Given the description of an element on the screen output the (x, y) to click on. 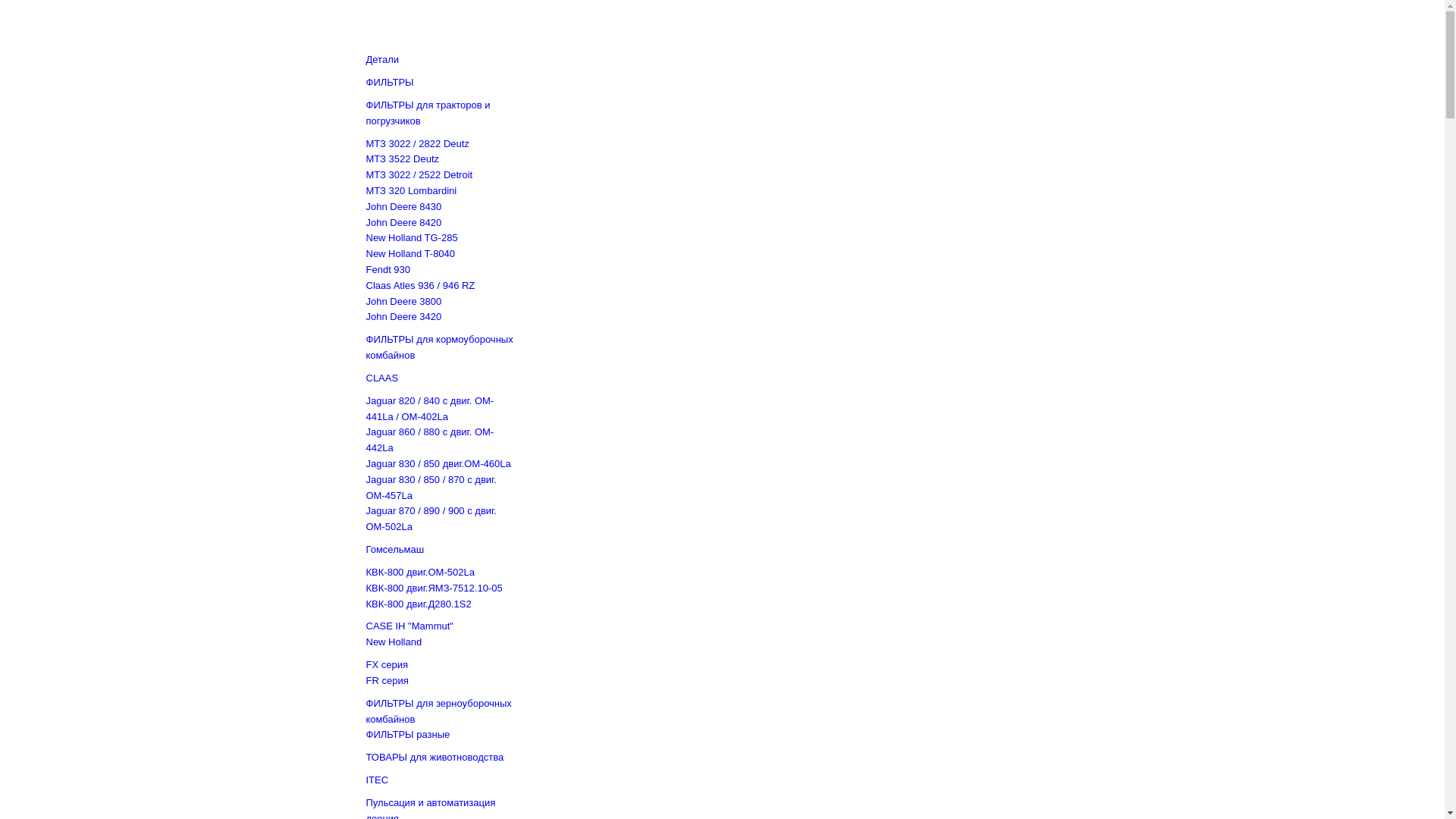
CASE IH "Mammut" Element type: text (408, 625)
John Deere 8430 Element type: text (403, 206)
Claas Atles 936 / 946 RZ Element type: text (419, 285)
ITEC Element type: text (376, 779)
CLAAS Element type: text (381, 377)
Agrofort Element type: hover (483, 22)
John Deere 8420 Element type: text (403, 222)
John Deere 3800 Element type: text (403, 301)
Fendt 930 Element type: text (387, 269)
John Deere 3420 Element type: text (403, 316)
New Holland T-8040 Element type: text (410, 253)
New Holland Element type: text (393, 641)
New Holland TG-285 Element type: text (411, 237)
